Given the description of an element on the screen output the (x, y) to click on. 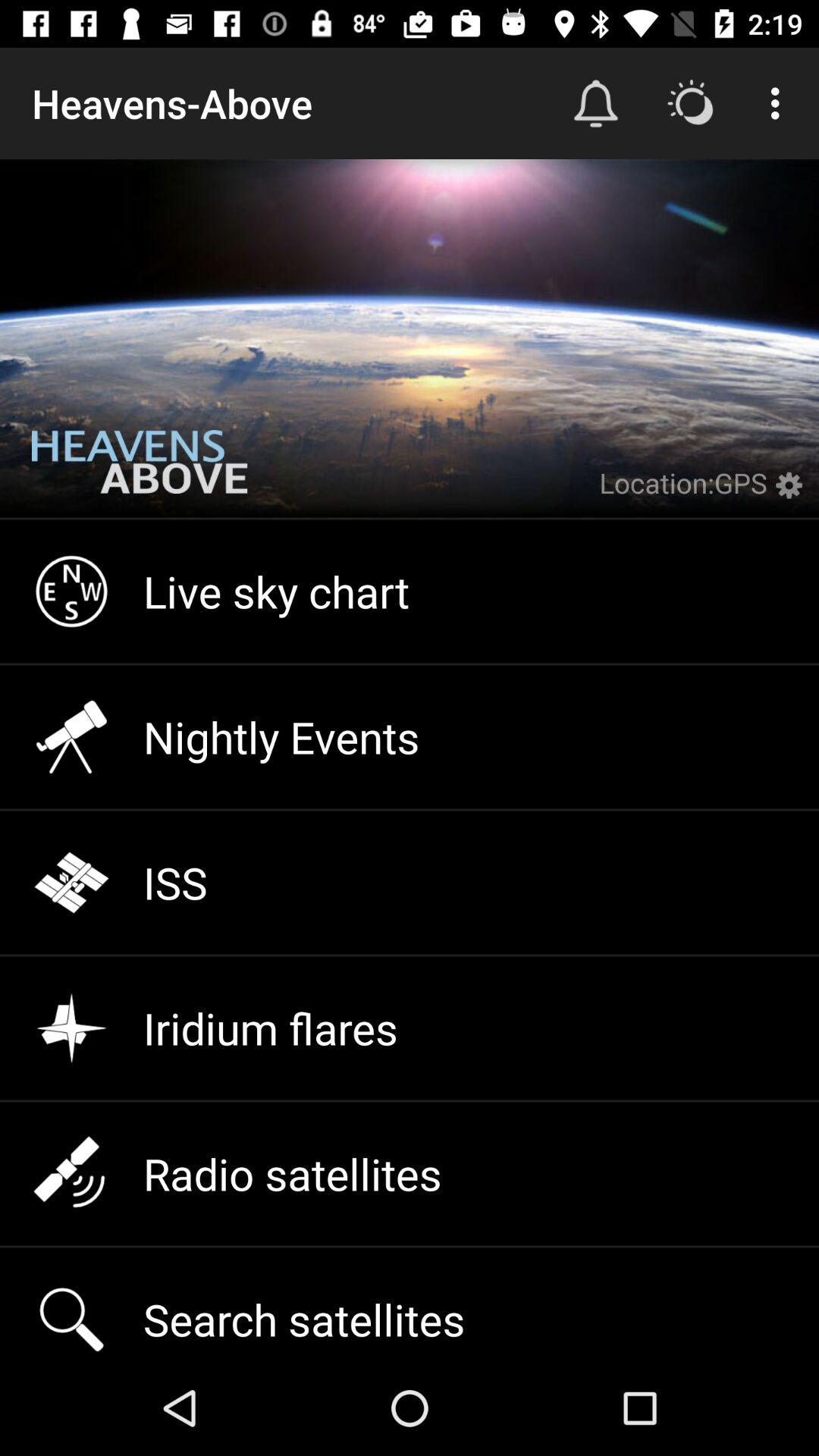
select the search satellites (409, 1303)
